Given the description of an element on the screen output the (x, y) to click on. 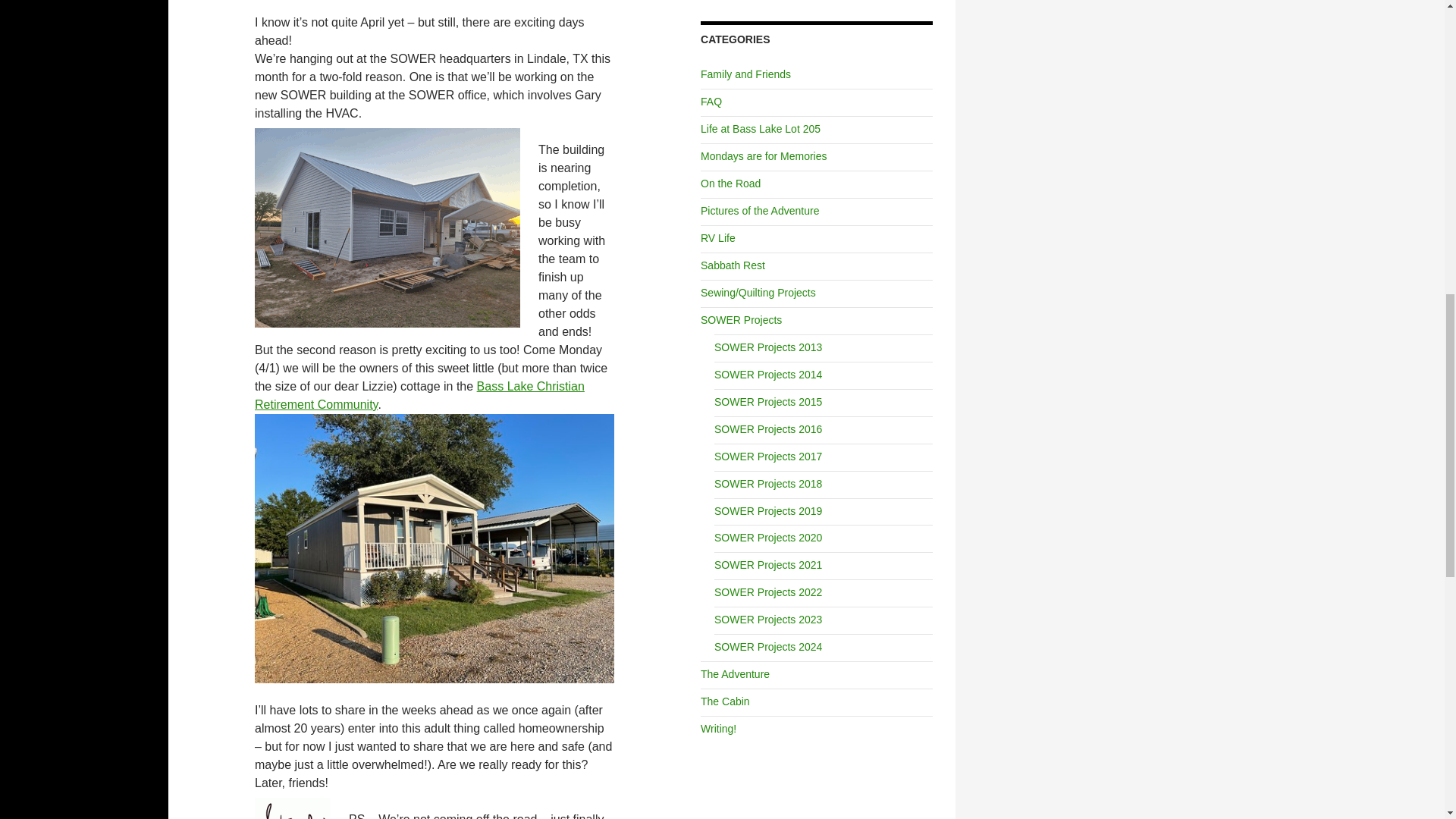
On the Road (730, 183)
Mondays are for Memories (763, 155)
Life at Bass Lake Lot 205 (760, 128)
Bass Lake Christian Retirement Community (419, 395)
Family and Friends (745, 73)
FAQ (711, 101)
Untitled (434, 547)
